Given the description of an element on the screen output the (x, y) to click on. 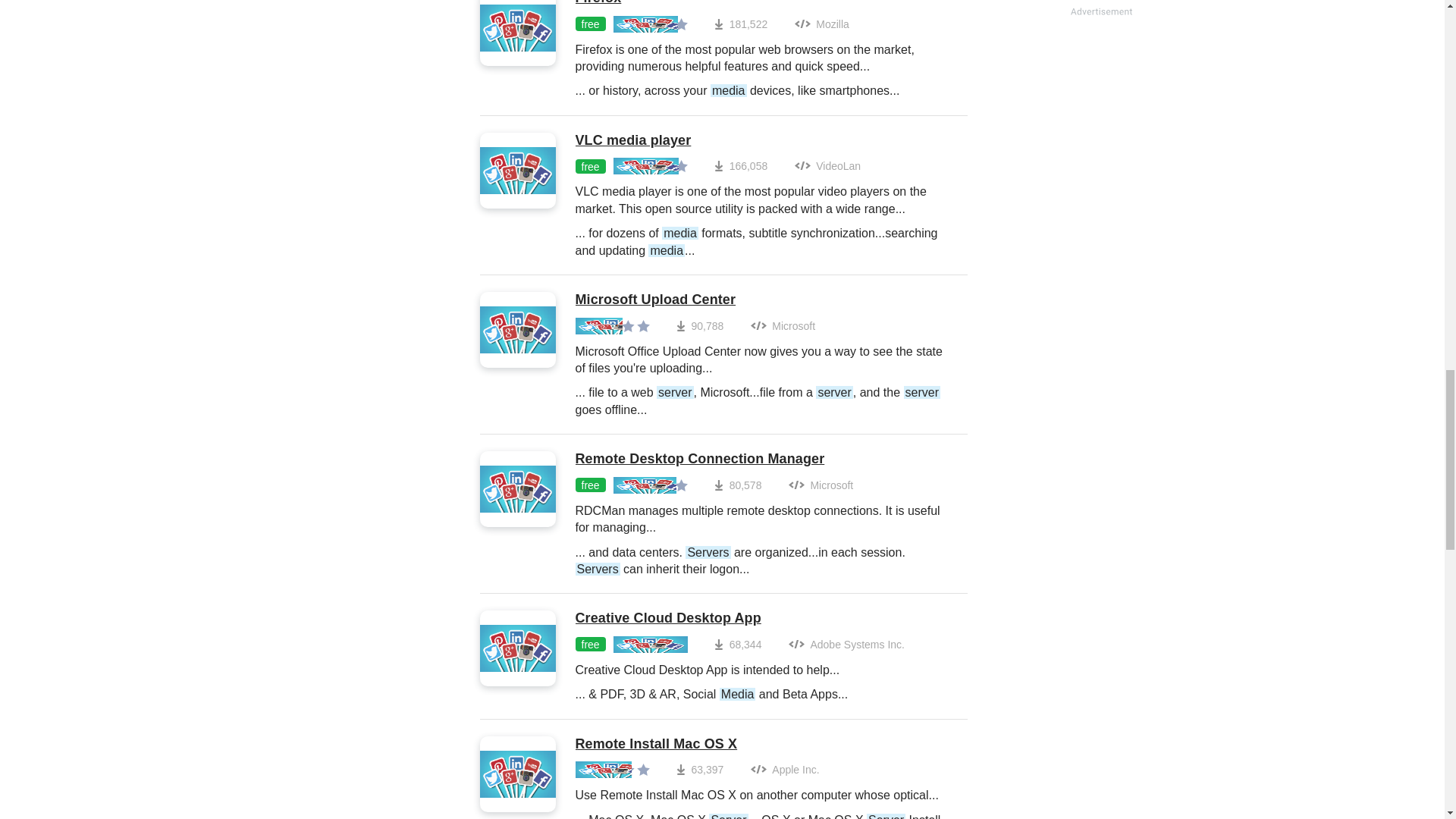
Remote Install Mac OS X (763, 744)
Microsoft Upload Center (763, 299)
Creative Cloud Desktop App (739, 618)
Remote Desktop Connection Manager (763, 459)
Firefox (763, 3)
VLC media player (763, 140)
